Given the description of an element on the screen output the (x, y) to click on. 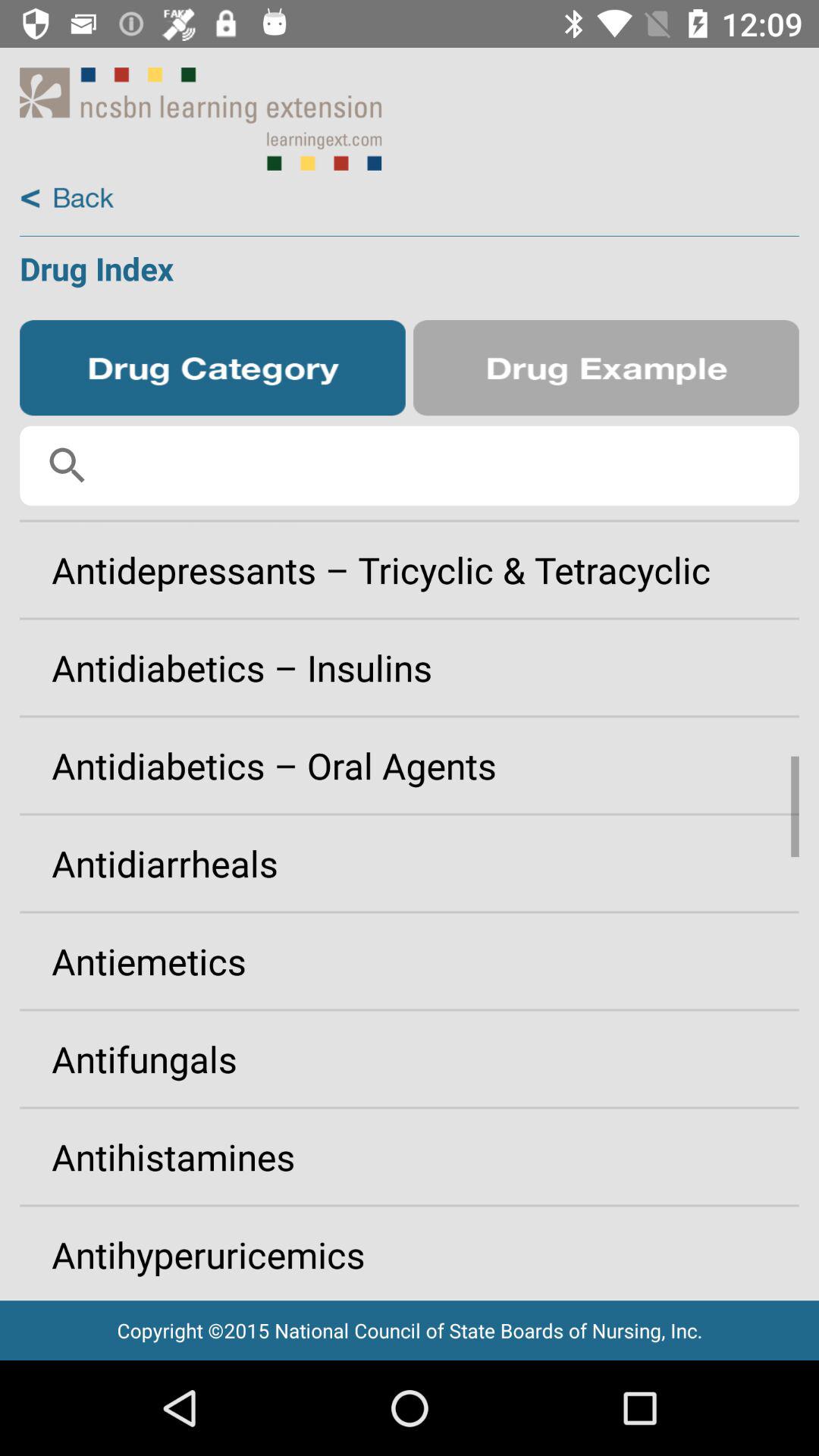
back button (66, 198)
